Given the description of an element on the screen output the (x, y) to click on. 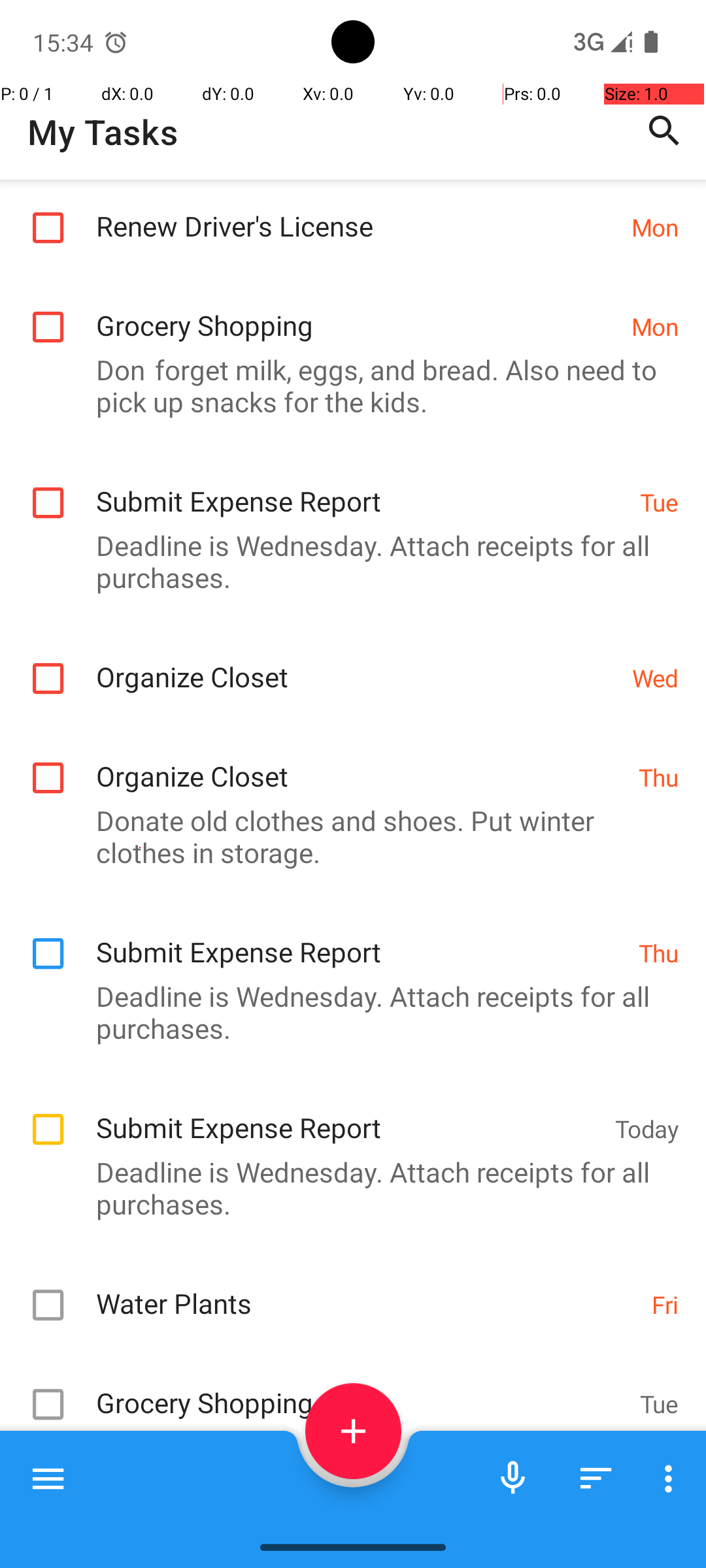
Review code changes Element type: android.widget.TextView (346, 1487)
Oct 29 Element type: android.widget.TextView (644, 1492)
